Given the description of an element on the screen output the (x, y) to click on. 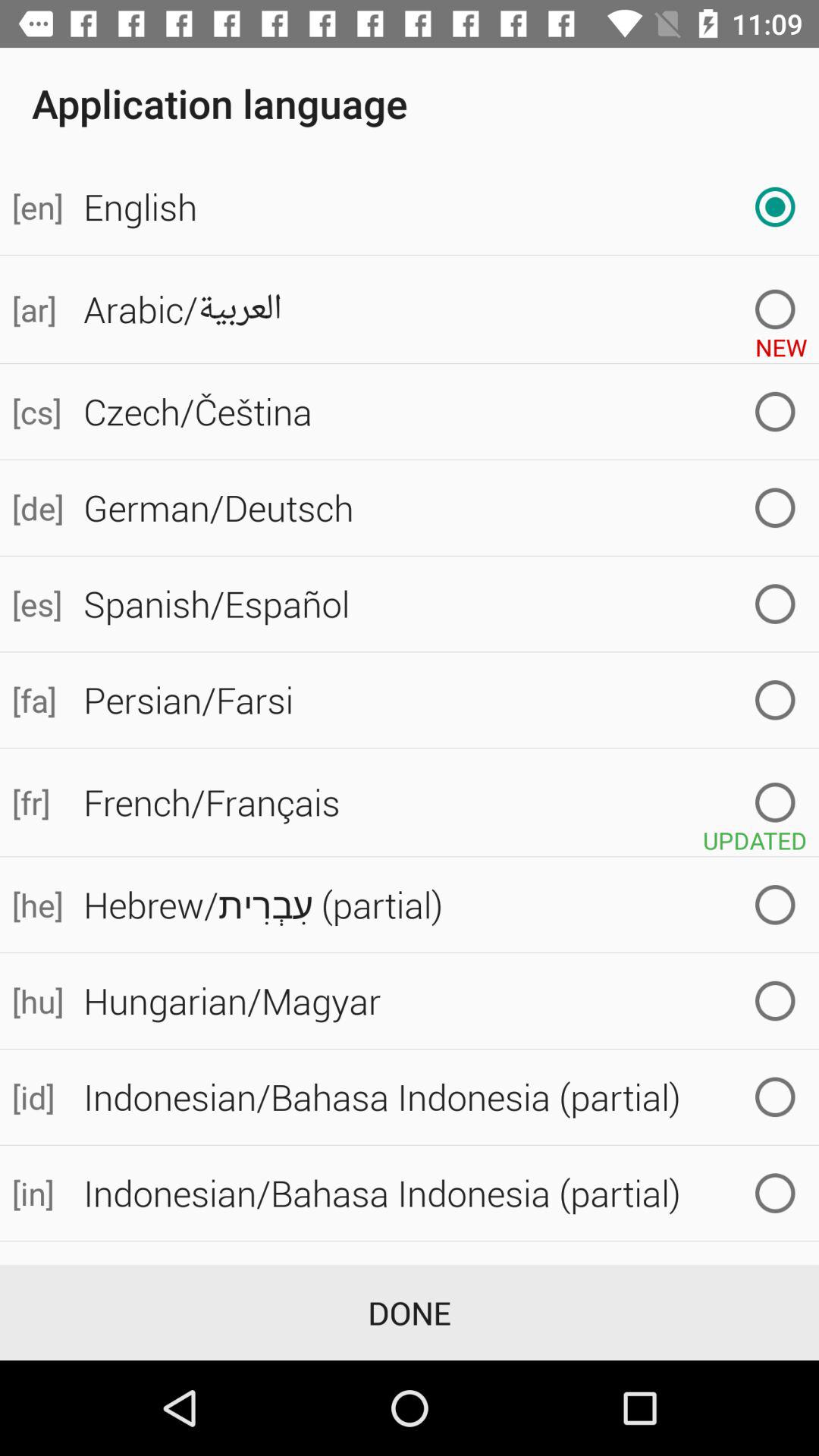
tap the item to the right of [ar] icon (445, 309)
